Given the description of an element on the screen output the (x, y) to click on. 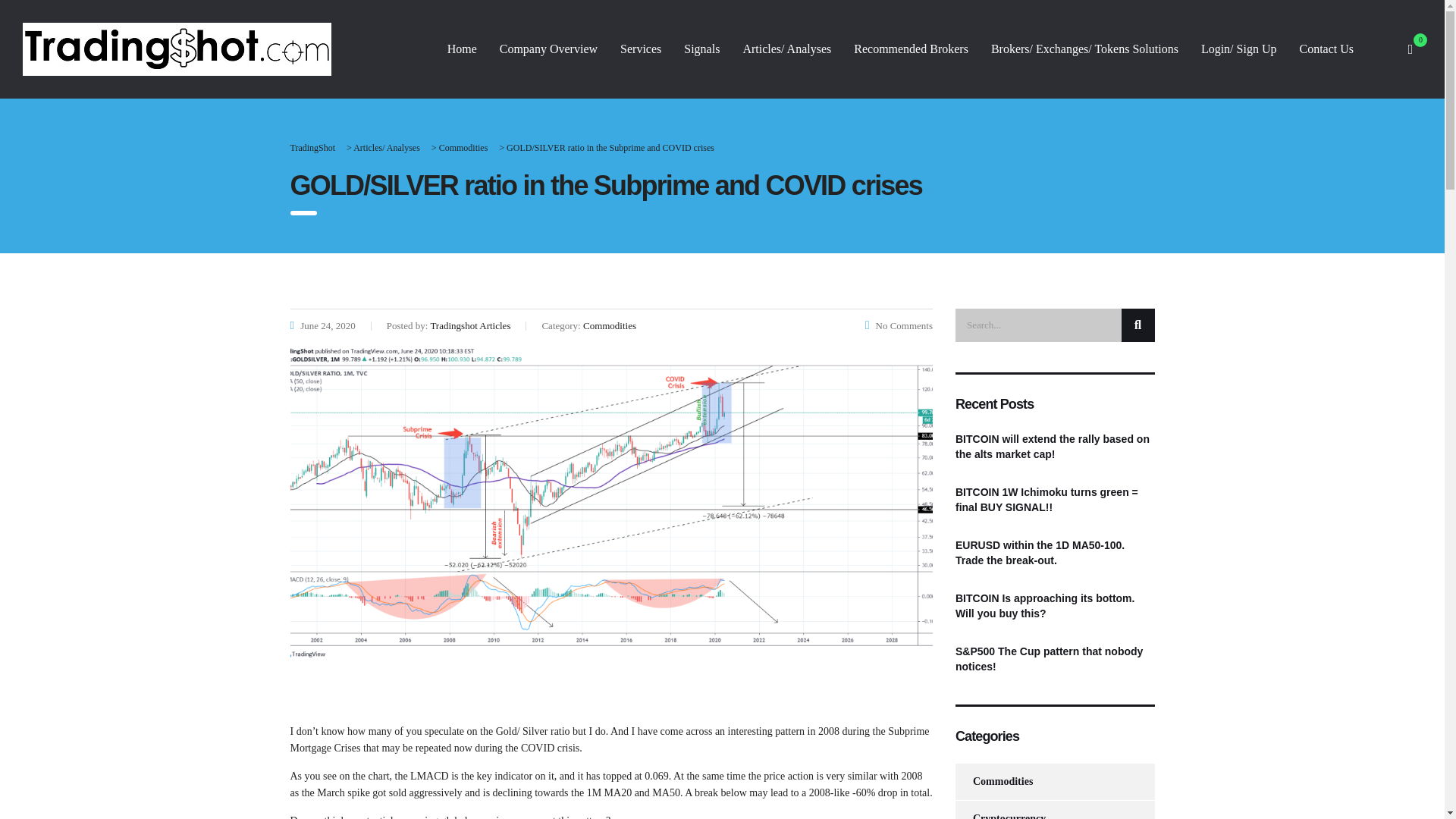
No Comments (898, 325)
Signals (701, 49)
BITCOIN Is approaching its bottom. Will you buy this? (1054, 605)
Services (640, 49)
Go to the Commodities Category archives. (463, 147)
Commodities (463, 147)
Company Overview (547, 49)
Cryptocurrency (1000, 809)
Go to TradingShot. (311, 147)
EURUSD within the 1D MA50-100. Trade the break-out. (1054, 552)
Commodities (993, 781)
Recommended Brokers (911, 49)
BITCOIN will extend the rally based on the alts market cap! (1054, 446)
Contact Us (1326, 49)
TradingShot (311, 147)
